Given the description of an element on the screen output the (x, y) to click on. 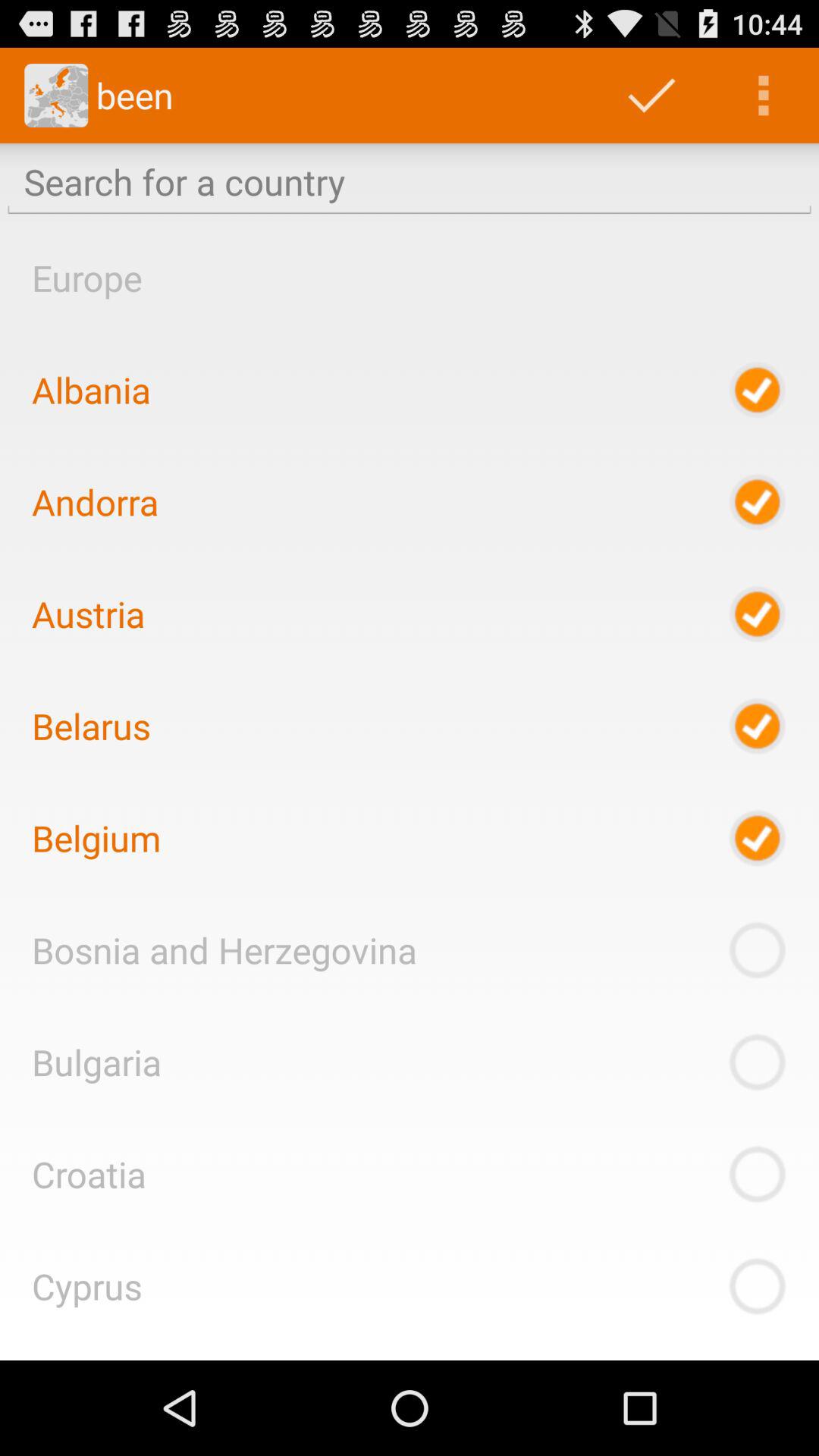
turn off the icon above bulgaria app (223, 949)
